Given the description of an element on the screen output the (x, y) to click on. 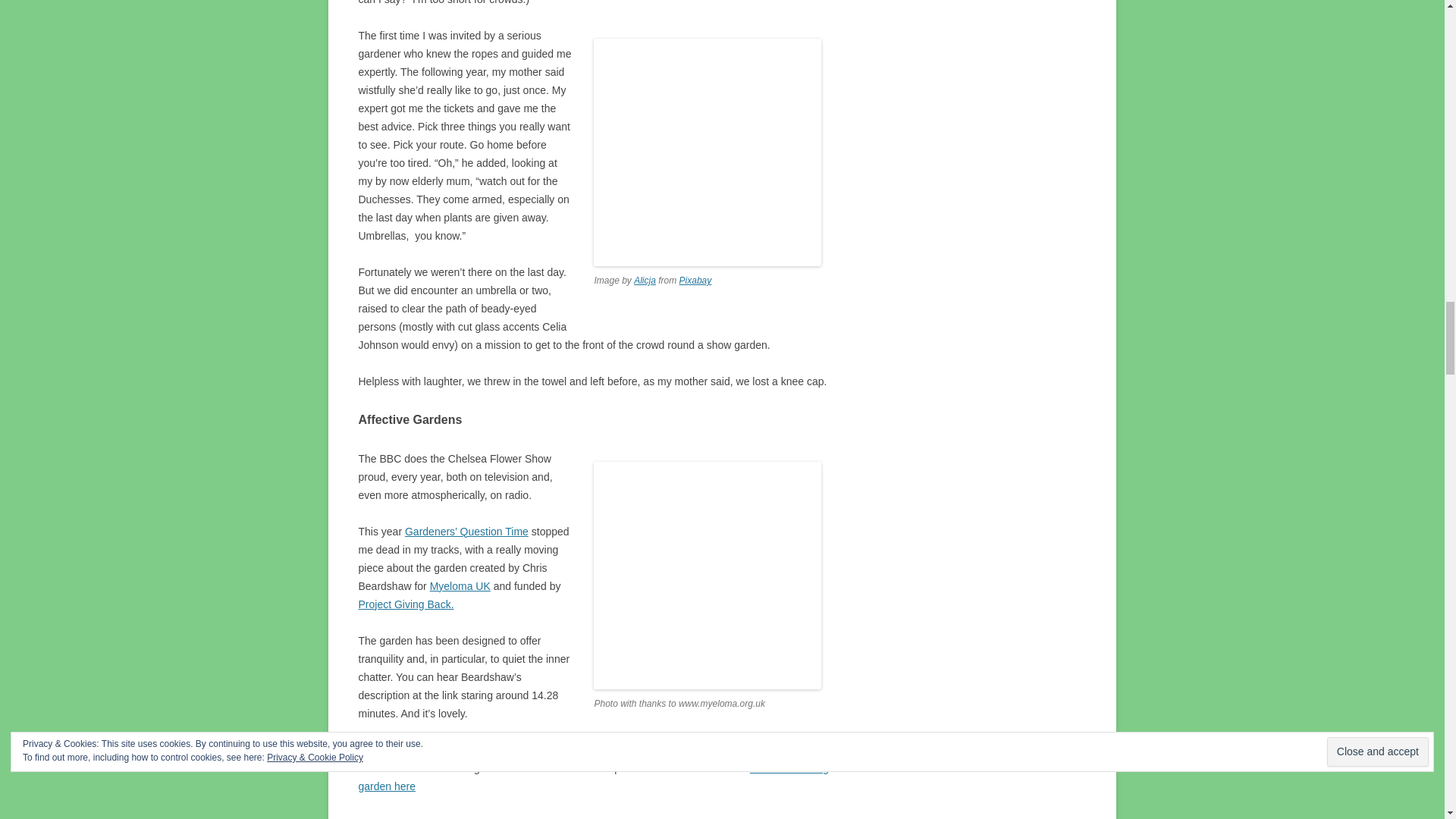
Project Giving Back. (405, 604)
Alicja (644, 280)
Myeloma UK (459, 585)
Pixabay (695, 280)
